Given the description of an element on the screen output the (x, y) to click on. 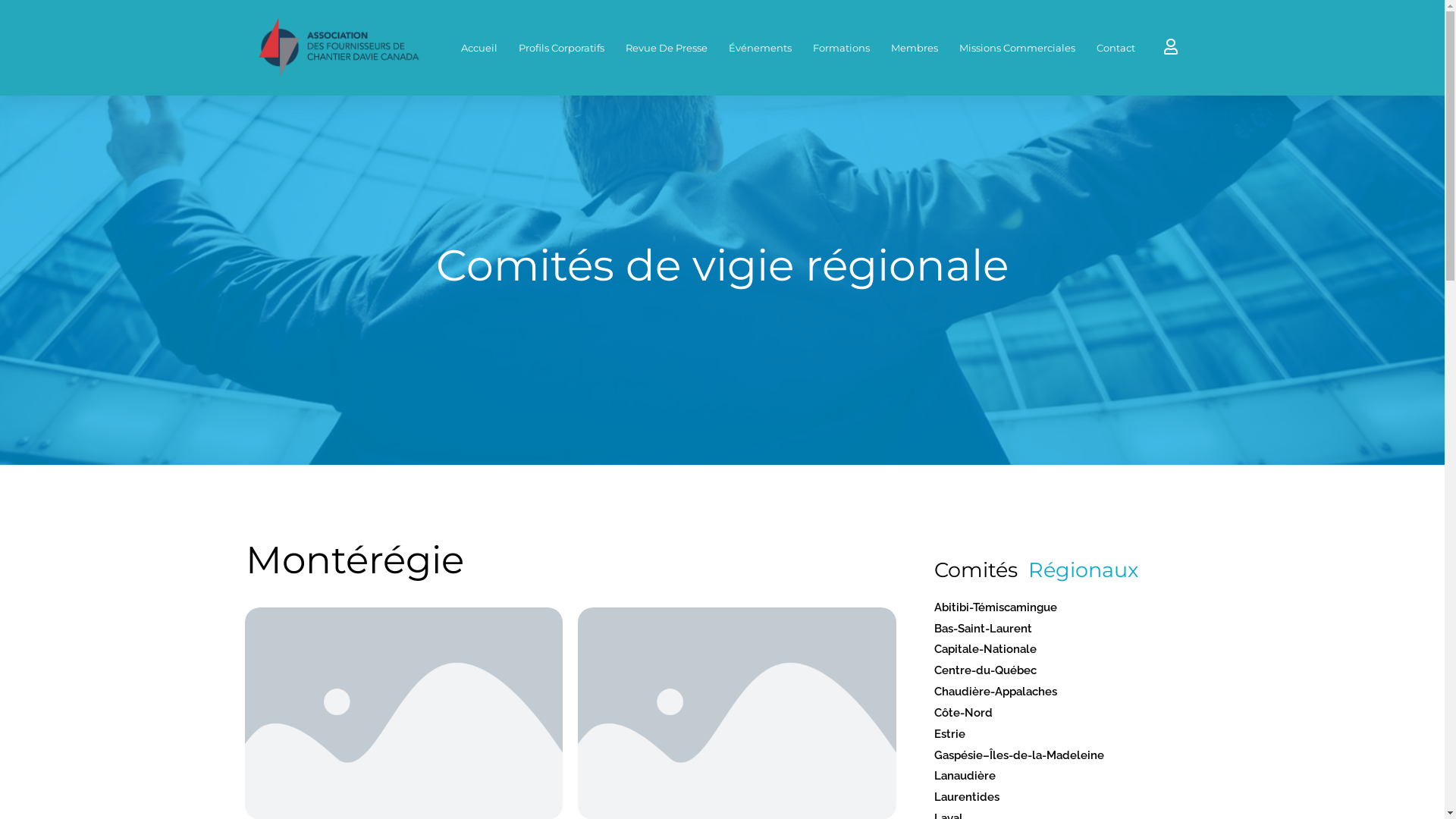
Profils Corporatifs Element type: text (561, 47)
Membres Element type: text (913, 47)
Laurentides Element type: text (1069, 797)
Contact Element type: text (1115, 47)
Bas-Saint-Laurent Element type: text (1069, 629)
Formations Element type: text (840, 47)
Estrie Element type: text (1069, 734)
Missions Commerciales Element type: text (1016, 47)
Revue De Presse Element type: text (665, 47)
Accueil Element type: text (479, 47)
Capitale-Nationale Element type: text (1069, 649)
